Given the description of an element on the screen output the (x, y) to click on. 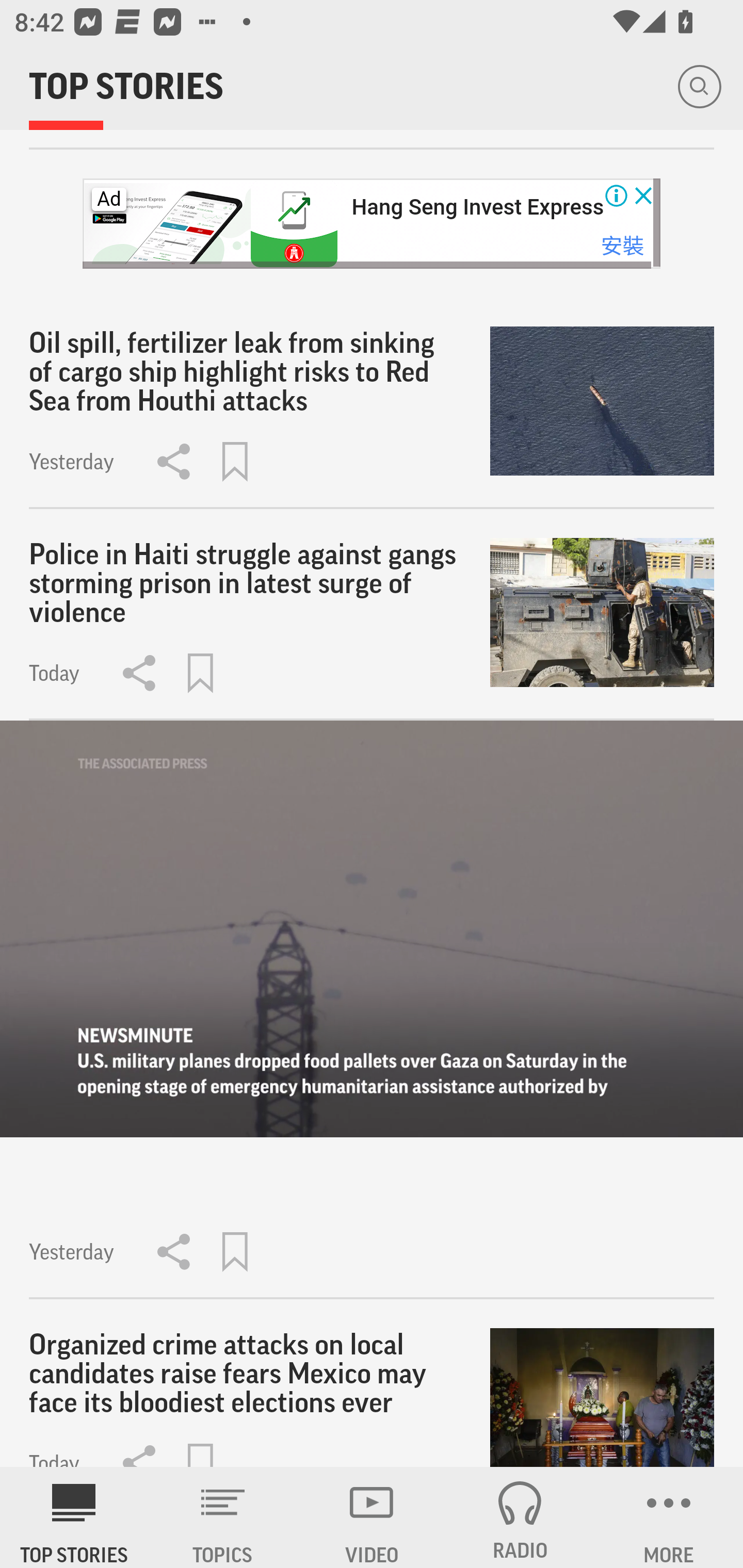
Hang Seng Invest Express (476, 206)
安裝 (621, 245)
toggle controls Yesterday (371, 1010)
toggle controls (371, 928)
AP News TOP STORIES (74, 1517)
TOPICS (222, 1517)
VIDEO (371, 1517)
RADIO (519, 1517)
MORE (668, 1517)
